Given the description of an element on the screen output the (x, y) to click on. 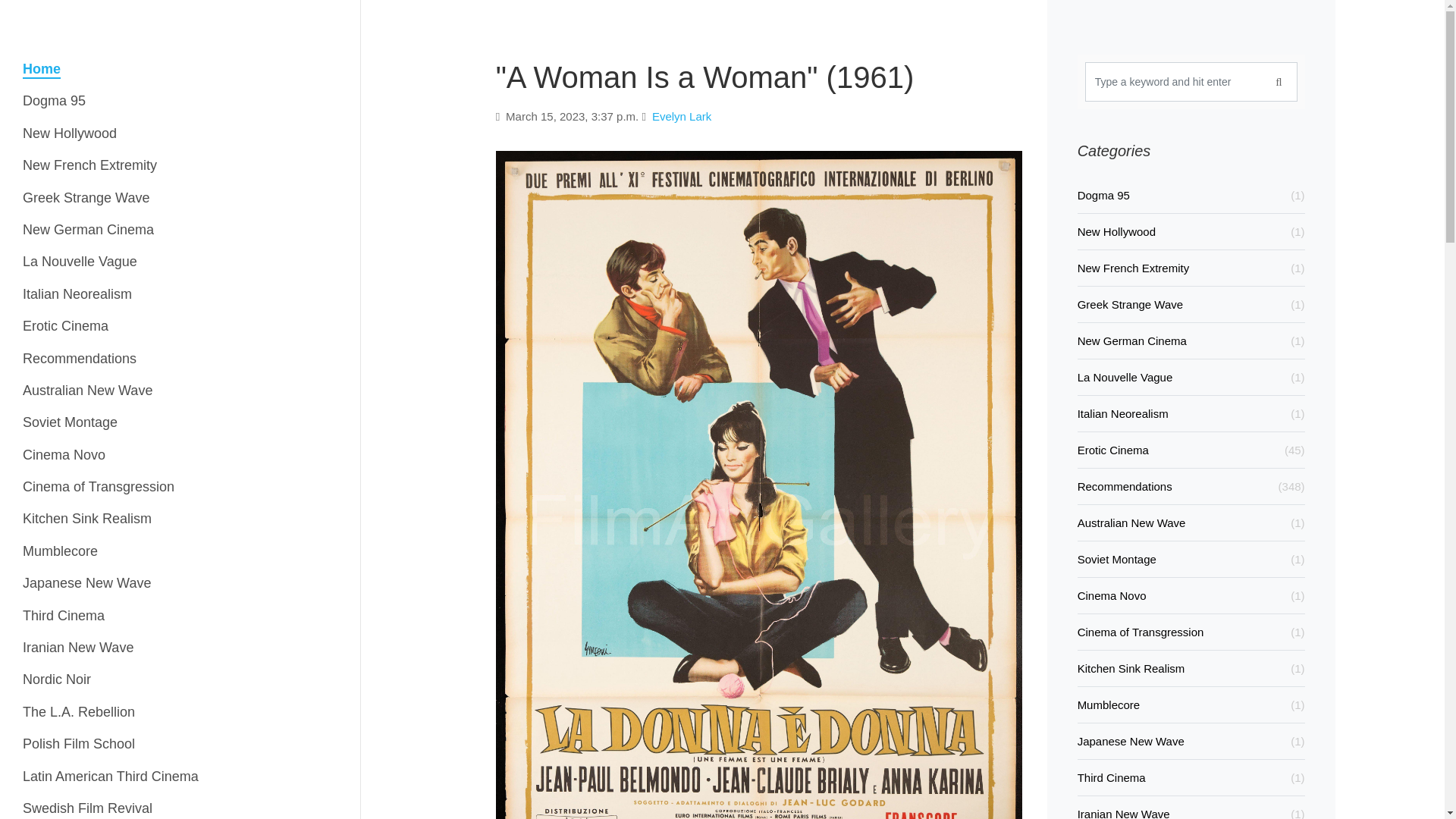
Third Cinema (63, 615)
The L.A. Rebellion (79, 711)
Kitchen Sink Realism (87, 518)
Cinema of Transgression (98, 486)
Soviet Montage (70, 422)
New German Cinema (88, 229)
Cinema Novo (63, 454)
La Nouvelle Vague (79, 261)
Japanese New Wave (87, 583)
Erotic Cinema (65, 326)
New Hollywood (69, 132)
Recommendations (79, 358)
Dogma 95 (54, 100)
Australian New Wave (87, 390)
Italian Neorealism (77, 294)
